Given the description of an element on the screen output the (x, y) to click on. 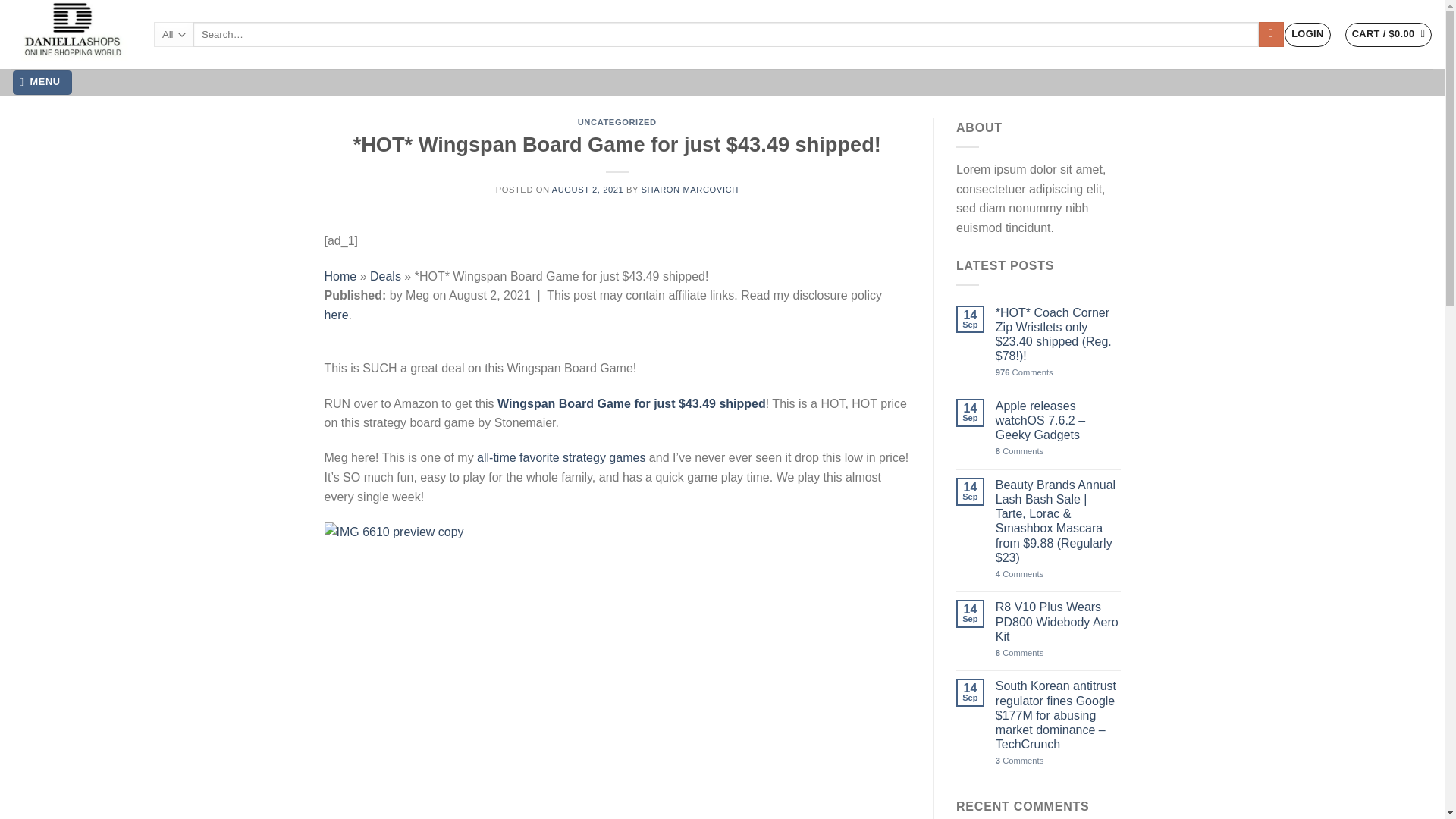
Login (1307, 34)
Home (340, 276)
My vittula mall - All product's in one place (71, 34)
UNCATEGORIZED (617, 121)
Cart (1388, 34)
AUGUST 2, 2021 (587, 189)
MENU (42, 82)
Deals (385, 276)
here (336, 314)
Search (1271, 34)
all-time favorite strategy games (563, 457)
LOGIN (1307, 34)
SHARON MARCOVICH (690, 189)
